Given the description of an element on the screen output the (x, y) to click on. 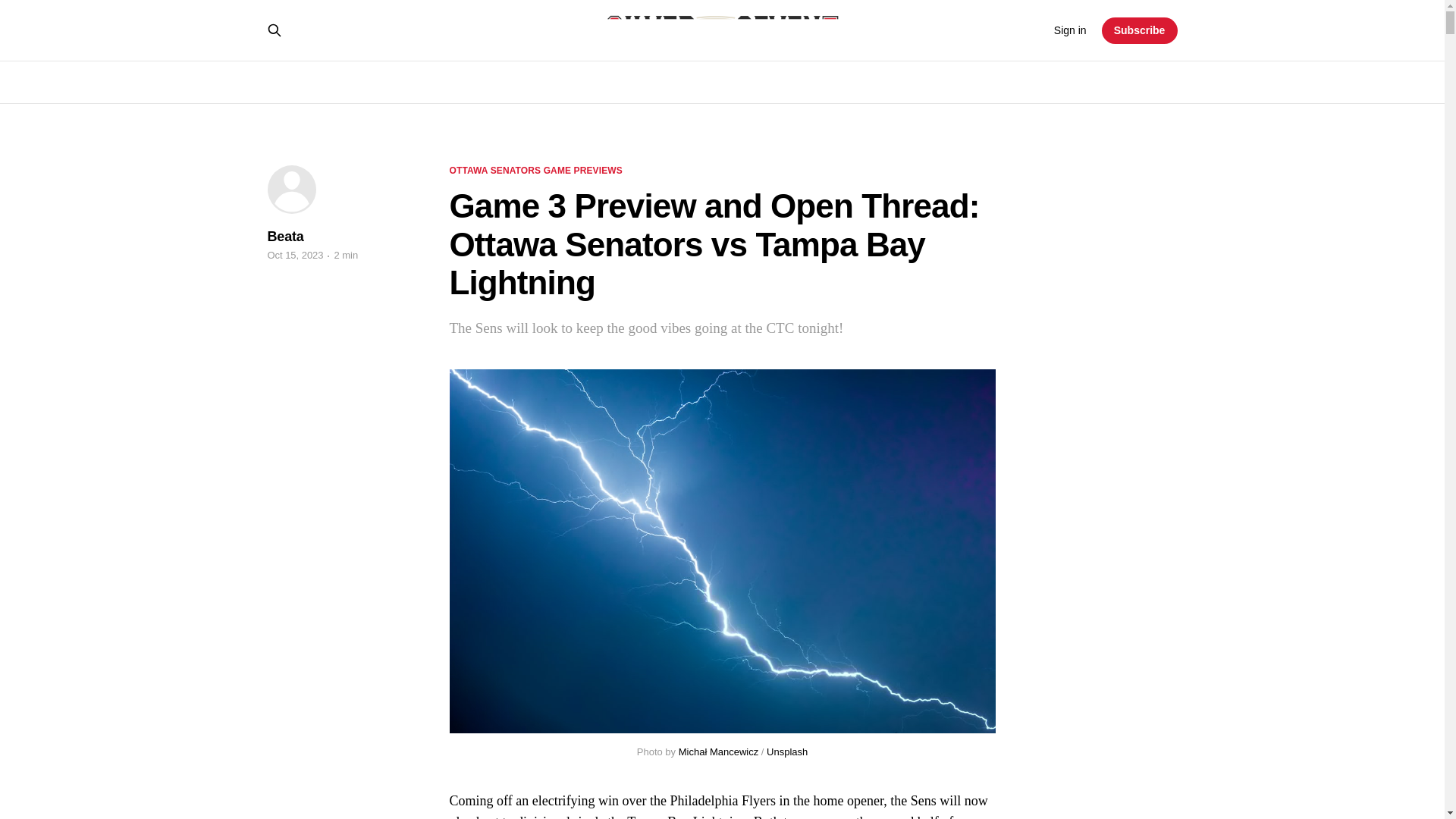
Unsplash (787, 751)
Sign in (1070, 30)
Beata (284, 236)
OTTAWA SENATORS GAME PREVIEWS (534, 170)
Subscribe (1139, 29)
